Given the description of an element on the screen output the (x, y) to click on. 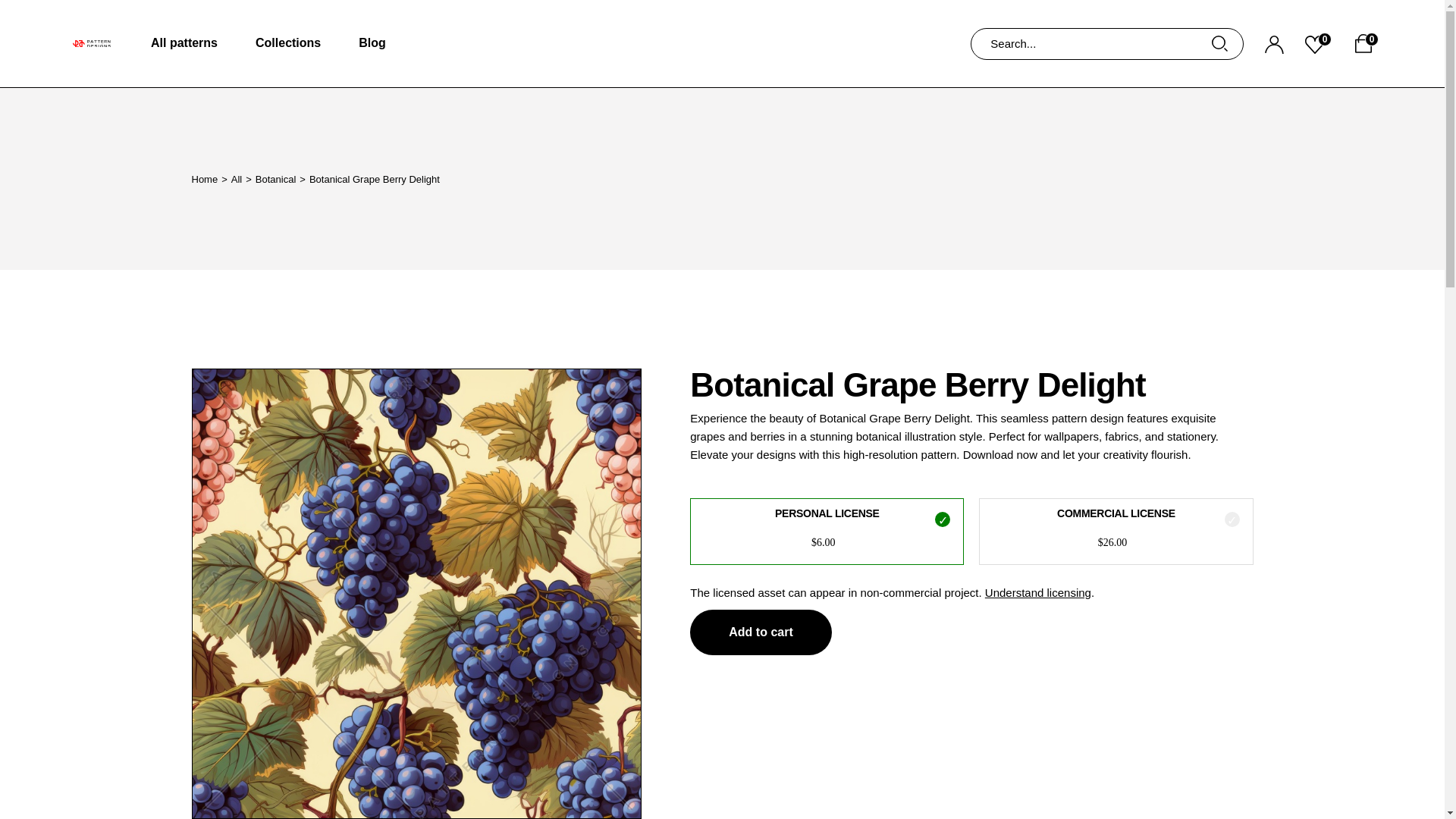
Understand licensing (1037, 592)
0 (1318, 43)
All (236, 178)
Botanical (275, 178)
All patterns (184, 43)
Home (203, 178)
Add to cart (760, 632)
Collections (288, 43)
